Given the description of an element on the screen output the (x, y) to click on. 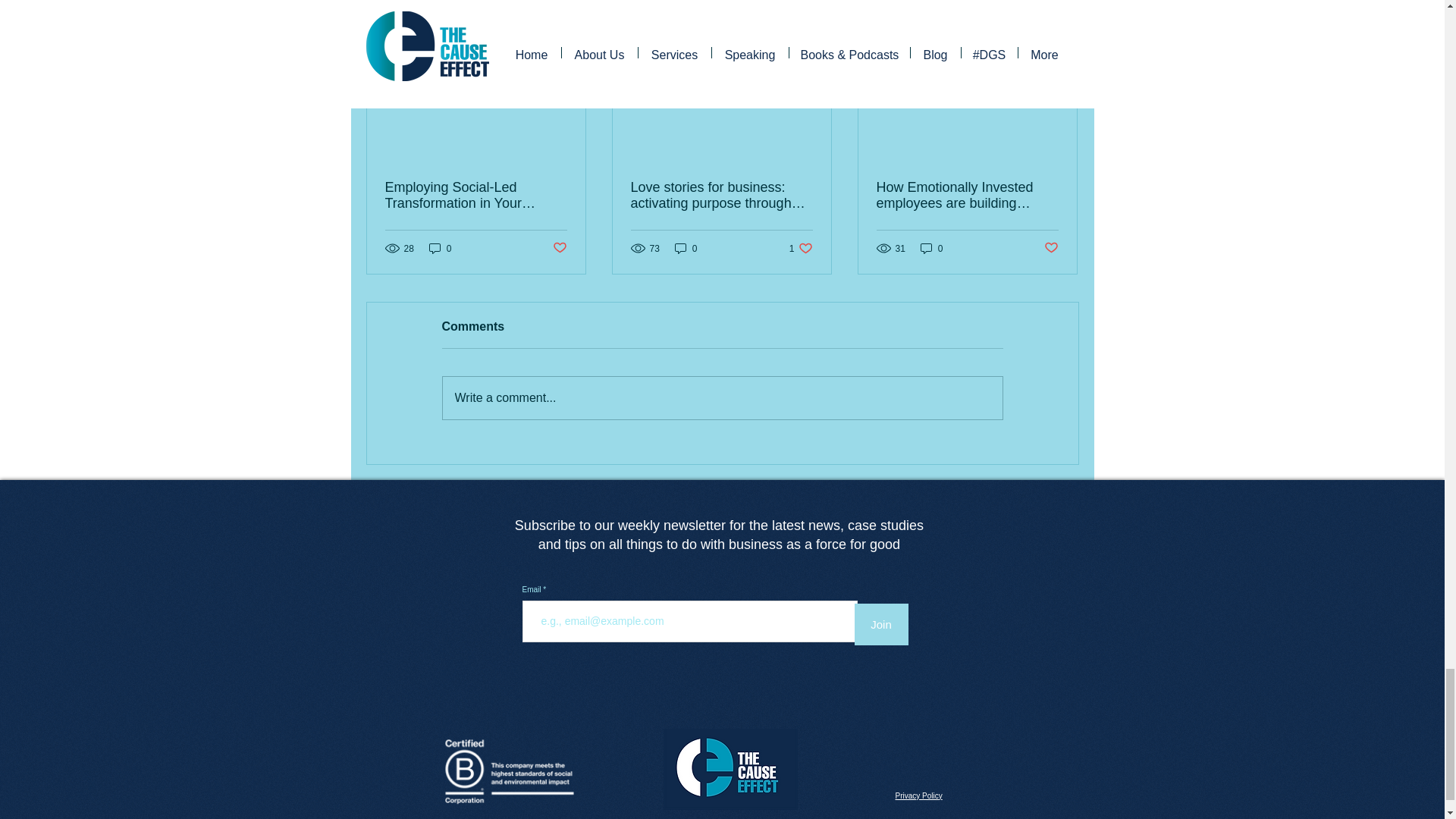
0 (440, 247)
Post not marked as liked (558, 248)
0 (685, 247)
See All (1061, 11)
